Given the description of an element on the screen output the (x, y) to click on. 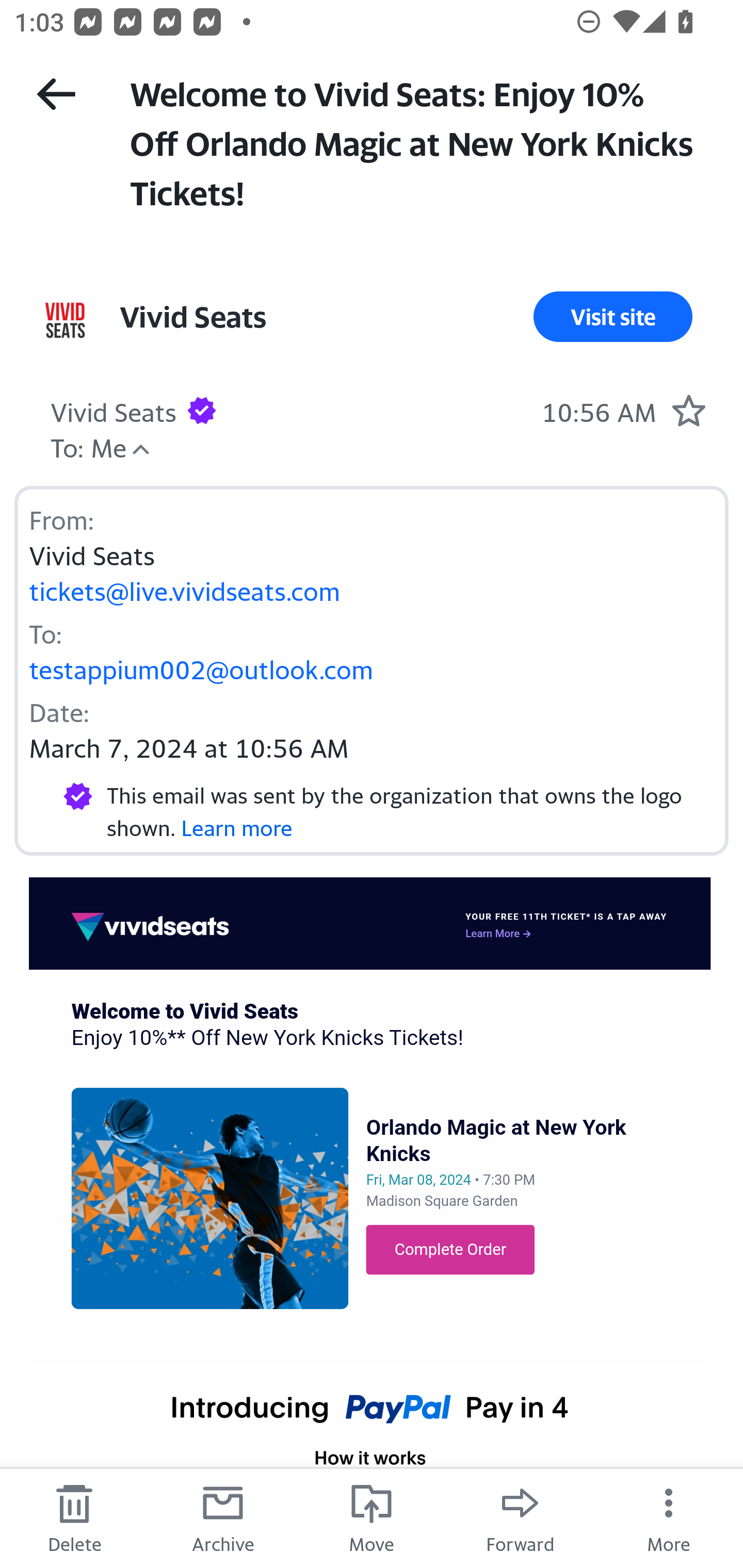
Back (55, 93)
View all messages from sender (64, 320)
Visit site Visit Site Link (612, 316)
Vivid Seats Sender Vivid Seats (191, 316)
Vivid Seats Sender Vivid Seats (113, 410)
Mark as starred. (688, 410)
To: Me Hide details (88, 446)
New York Knicks (210, 1197)
Orlando Magic at New York Knicks (496, 1140)
Complete Order (449, 1249)
Delete (74, 1517)
Archive (222, 1517)
Move (371, 1517)
Forward (519, 1517)
More (668, 1517)
